Given the description of an element on the screen output the (x, y) to click on. 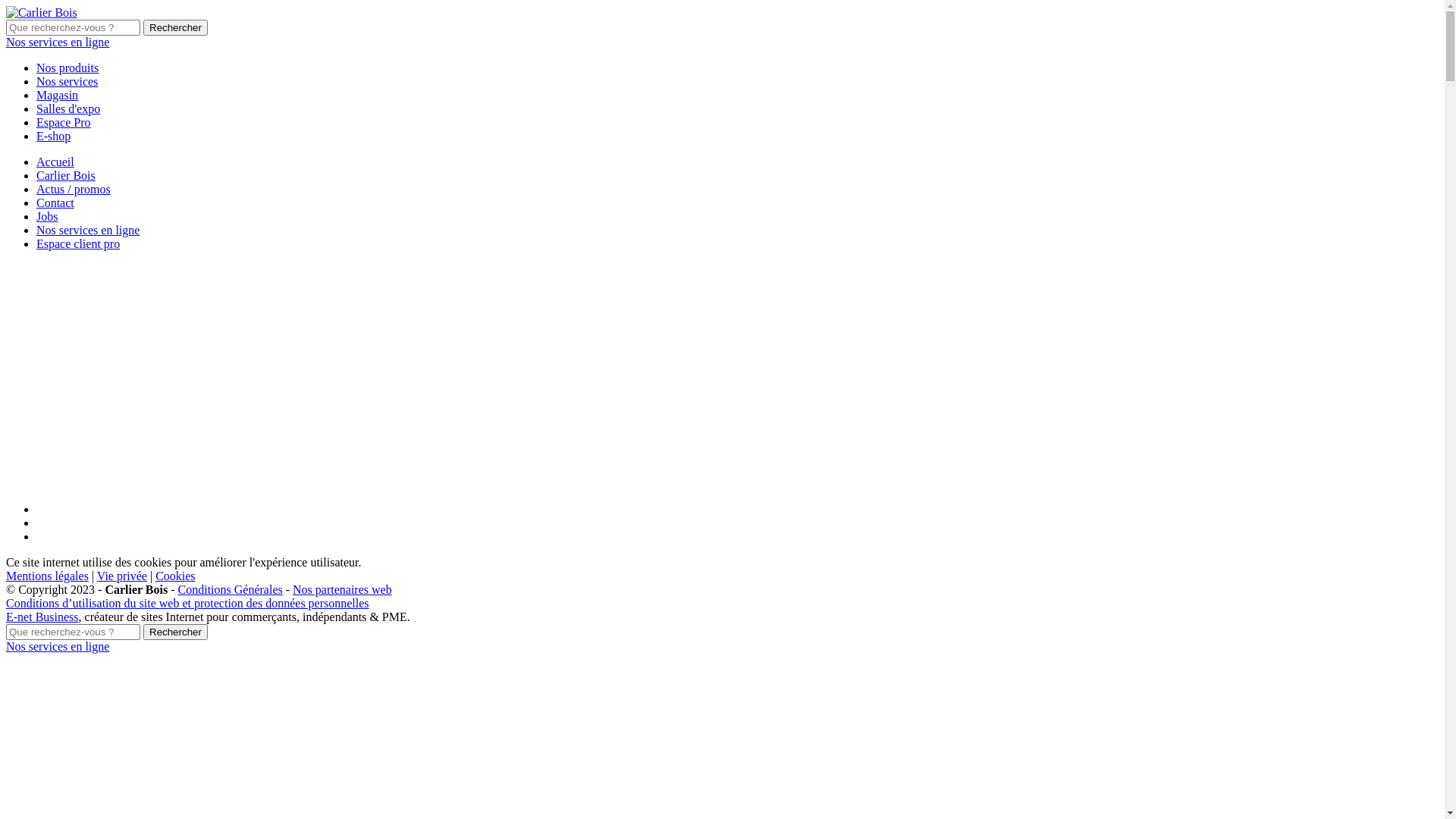
Contact Element type: text (55, 202)
Salles d'expo Element type: text (68, 108)
E-net Business Element type: text (42, 616)
Espace Pro Element type: text (63, 122)
E-shop Element type: text (53, 135)
Nos services Element type: text (66, 81)
Nos services en ligne Element type: text (87, 229)
Nos services en ligne Element type: text (57, 646)
Actus / promos Element type: text (73, 188)
Accueil Element type: text (55, 161)
Cookies Element type: text (174, 575)
Carlier Bois Element type: text (65, 175)
Nos services en ligne Element type: text (57, 41)
Nos produits Element type: text (67, 67)
Rechercher Element type: text (175, 632)
Espace client pro Element type: text (77, 243)
Rechercher Element type: text (175, 27)
Magasin Element type: text (57, 94)
Nos partenaires web Element type: text (342, 589)
Jobs Element type: text (46, 216)
Carlier Bois Element type: hover (41, 12)
